Given the description of an element on the screen output the (x, y) to click on. 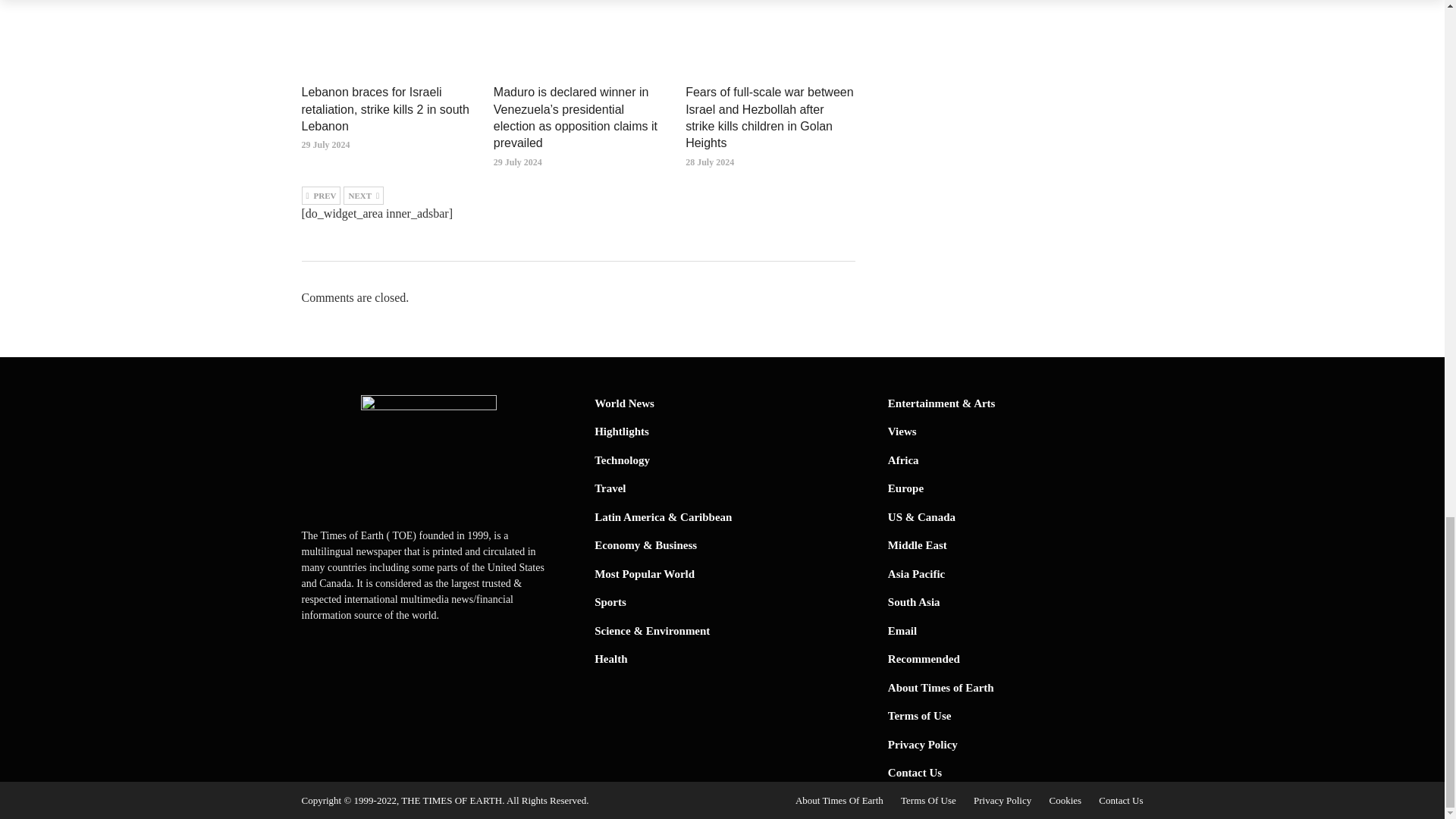
Previous (320, 195)
Next (363, 195)
